Given the description of an element on the screen output the (x, y) to click on. 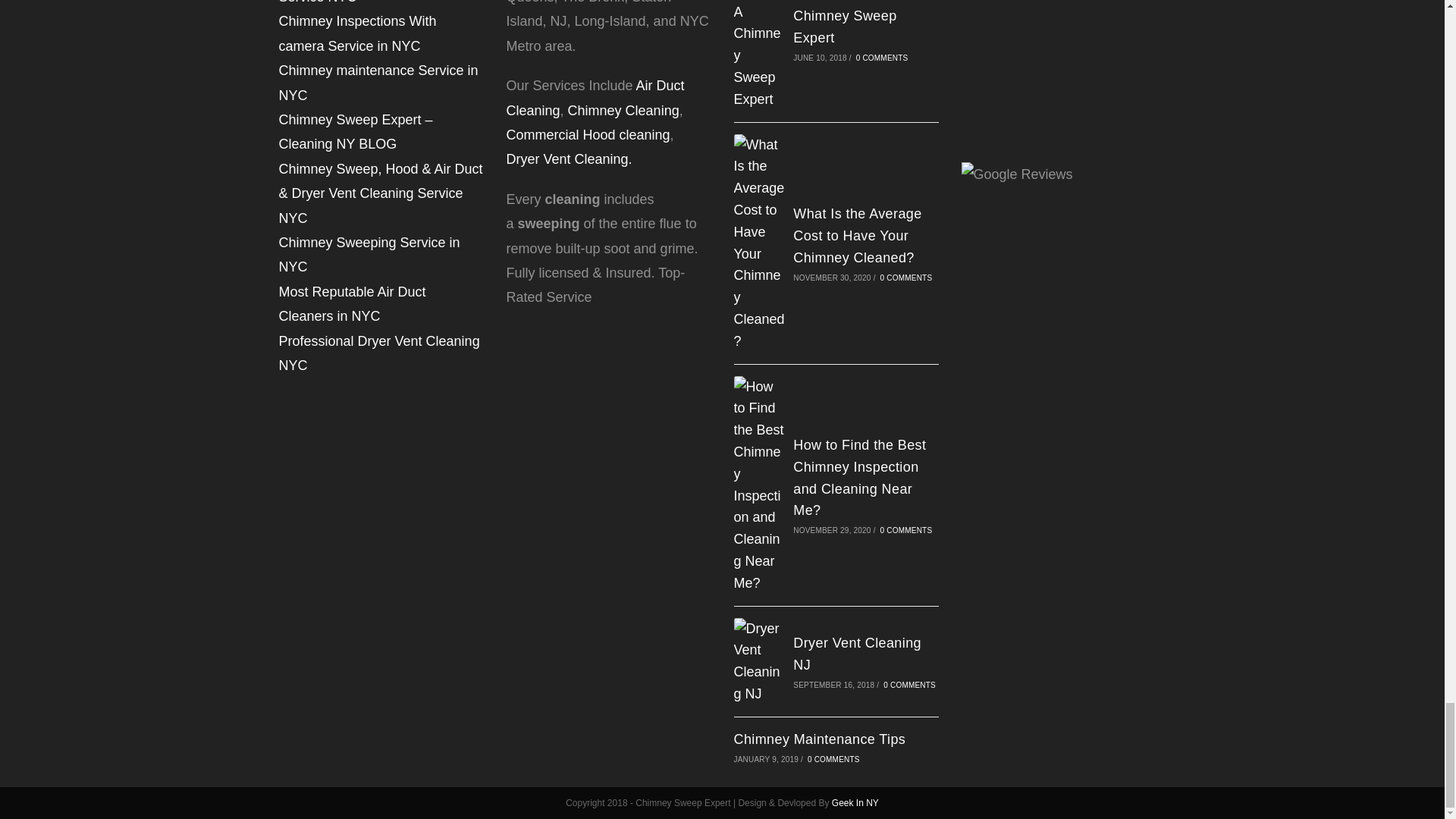
How To Become A Chimney Sweep Expert (850, 22)
What Is the Average Cost to Have Your Chimney Cleaned? (857, 235)
